Given the description of an element on the screen output the (x, y) to click on. 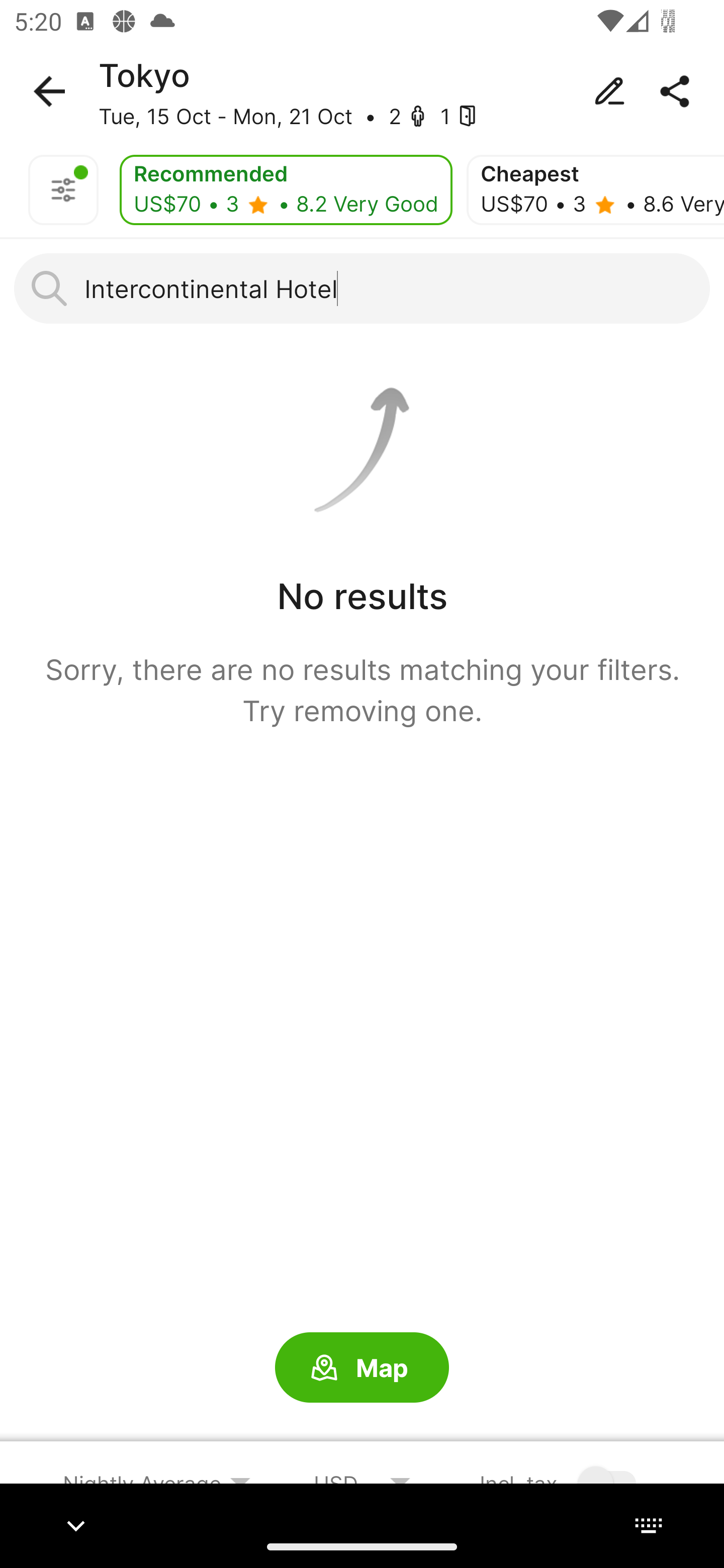
Tokyo Tue, 15 Oct - Mon, 21 Oct  •  2 -  1 - (361, 91)
Recommended  US$70  • 3 - • 8.2 Very Good (285, 190)
Cheapest US$70  • 3 - • 8.6 Very Good (595, 190)
Intercontinental Hotel (361, 288)
Map  (361, 1367)
